Given the description of an element on the screen output the (x, y) to click on. 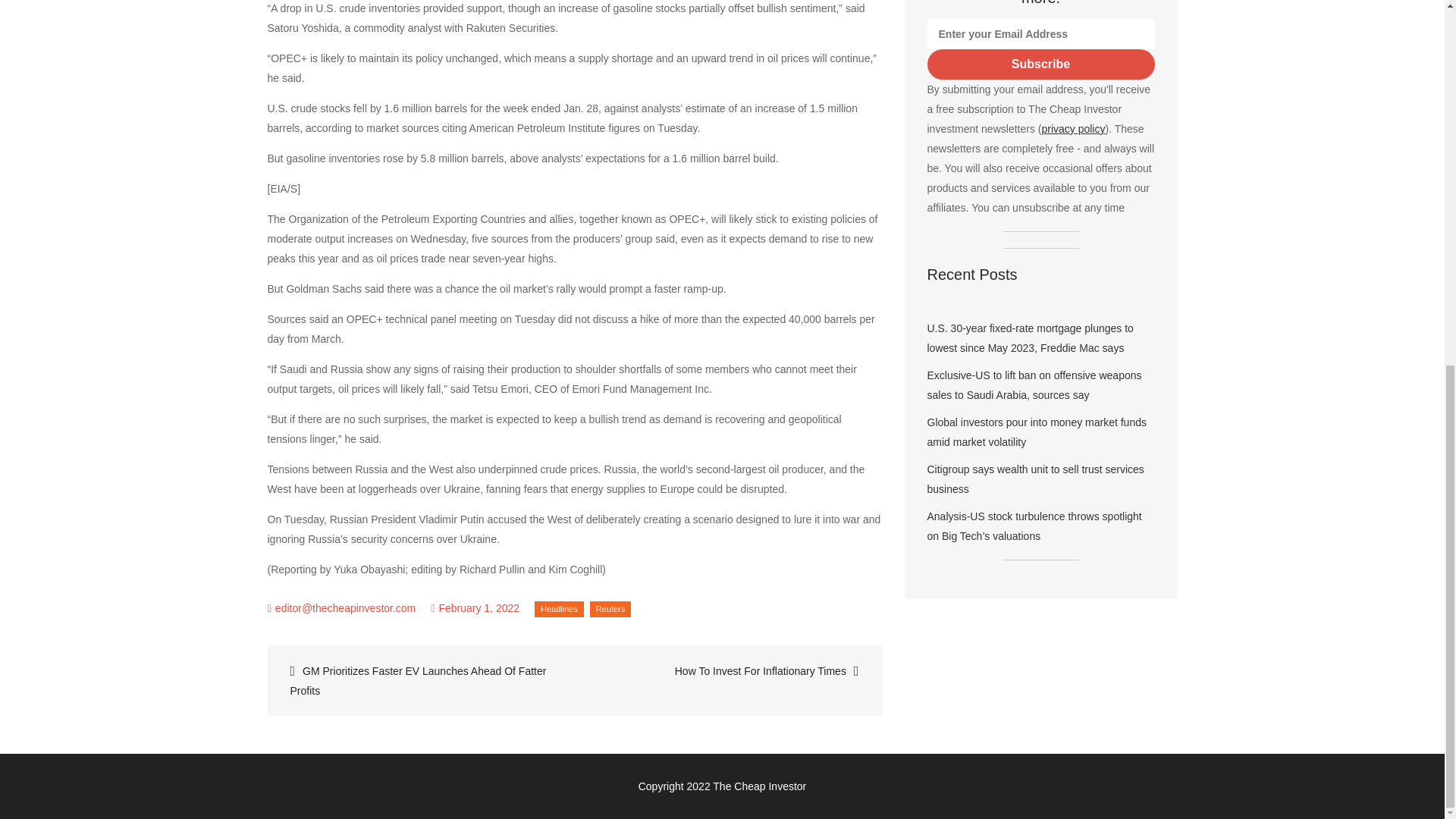
Citigroup says wealth unit to sell trust services business (1034, 479)
GM Prioritizes Faster EV Launches Ahead Of Fatter Profits (421, 680)
Subscribe (1040, 64)
Subscribe (1040, 64)
privacy policy (1073, 128)
Reuters (610, 609)
How To Invest For Inflationary Times (725, 670)
February 1, 2022 (474, 607)
